Given the description of an element on the screen output the (x, y) to click on. 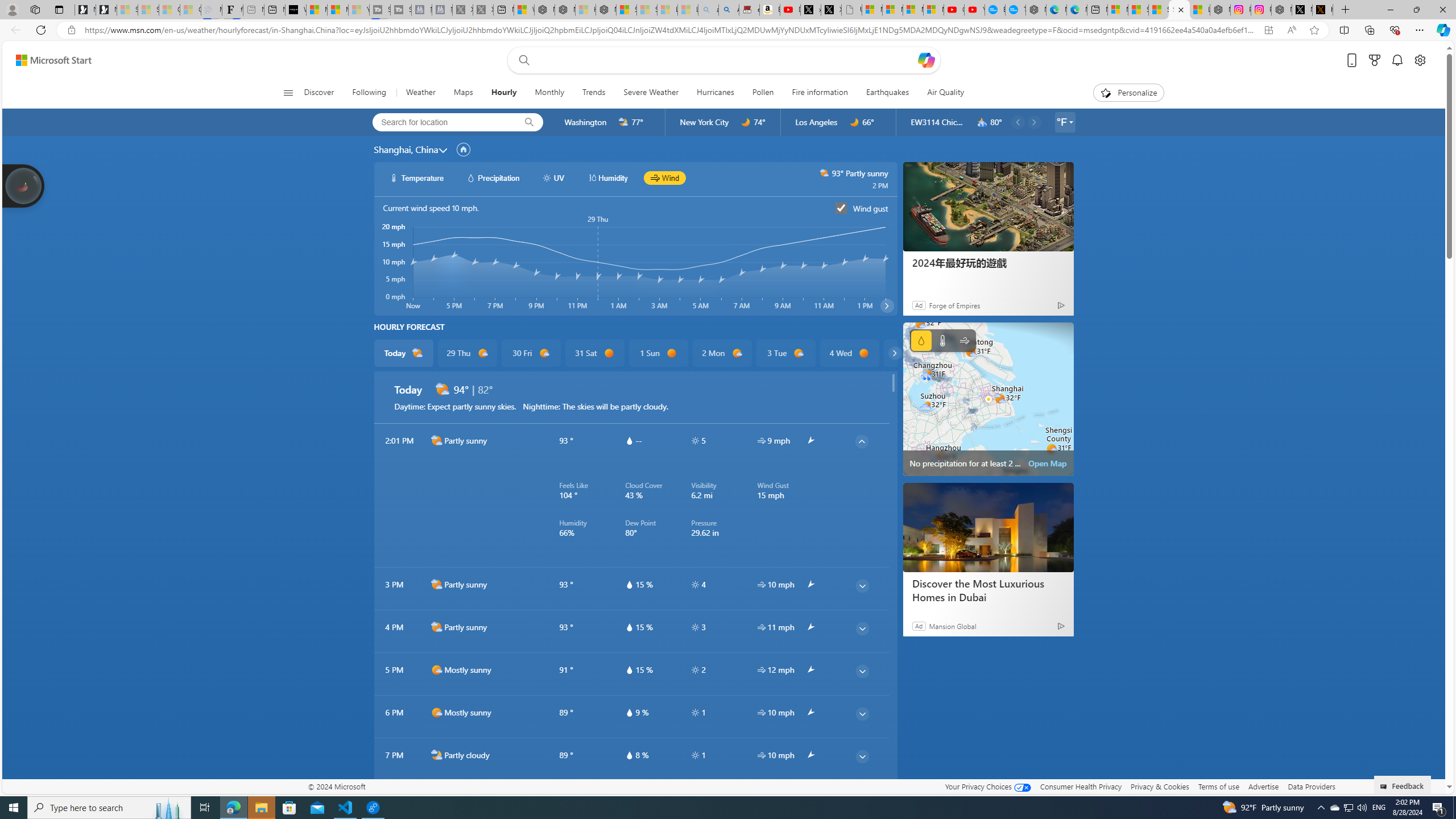
hourlyChart/uvWhite UV (553, 178)
Wind (964, 340)
Class: feedback_link_icon-DS-EntryPoint1-1 (1384, 786)
Terms of use (1218, 786)
To get missing image descriptions, open the context menu. (1105, 92)
Today d2000 (403, 352)
hourlyChart/windBlack Wind (664, 178)
